Given the description of an element on the screen output the (x, y) to click on. 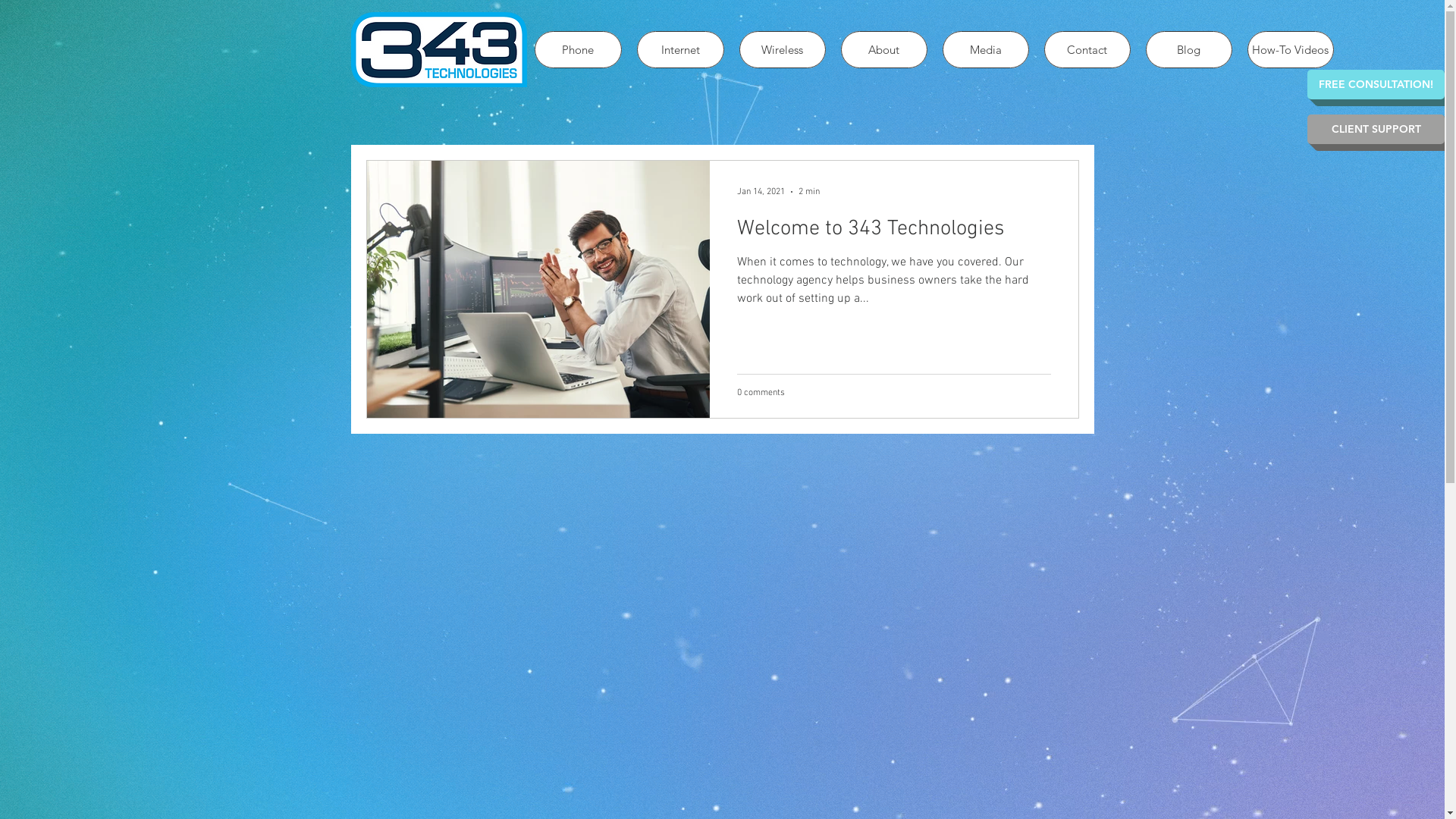
Blog Element type: text (1188, 49)
0 comments Element type: text (760, 391)
CLIENT SUPPORT Element type: text (1375, 129)
Media Element type: text (984, 49)
Wireless Element type: text (781, 49)
Welcome to 343 Technologies Element type: text (894, 233)
Phone Element type: text (577, 49)
How-To Videos Element type: text (1289, 49)
Internet Element type: text (680, 49)
FREE CONSULTATION! Element type: text (1375, 84)
Contact Element type: text (1086, 49)
About Element type: text (883, 49)
